Given the description of an element on the screen output the (x, y) to click on. 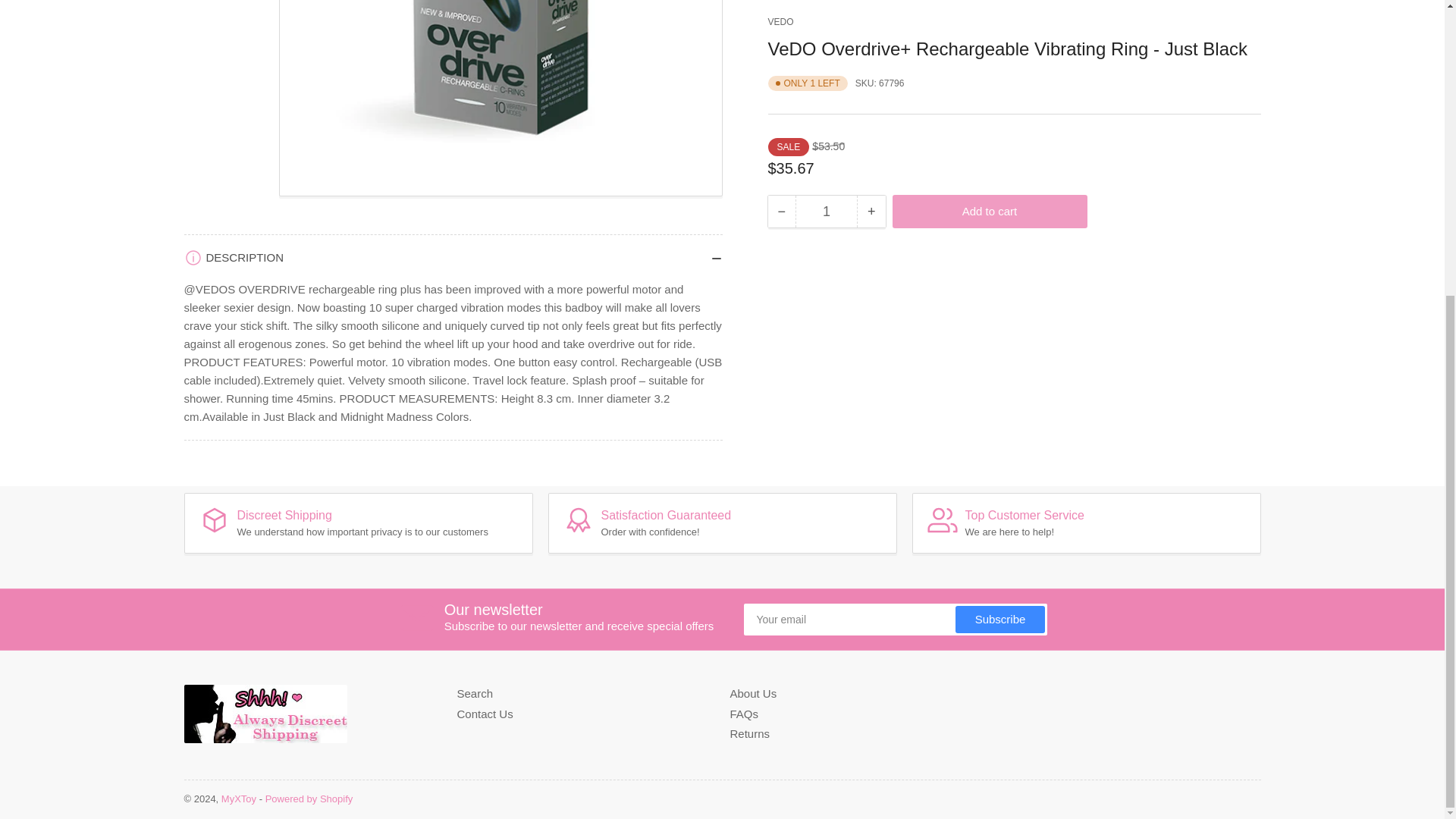
Load image 1 in gallery view (223, 98)
